Given the description of an element on the screen output the (x, y) to click on. 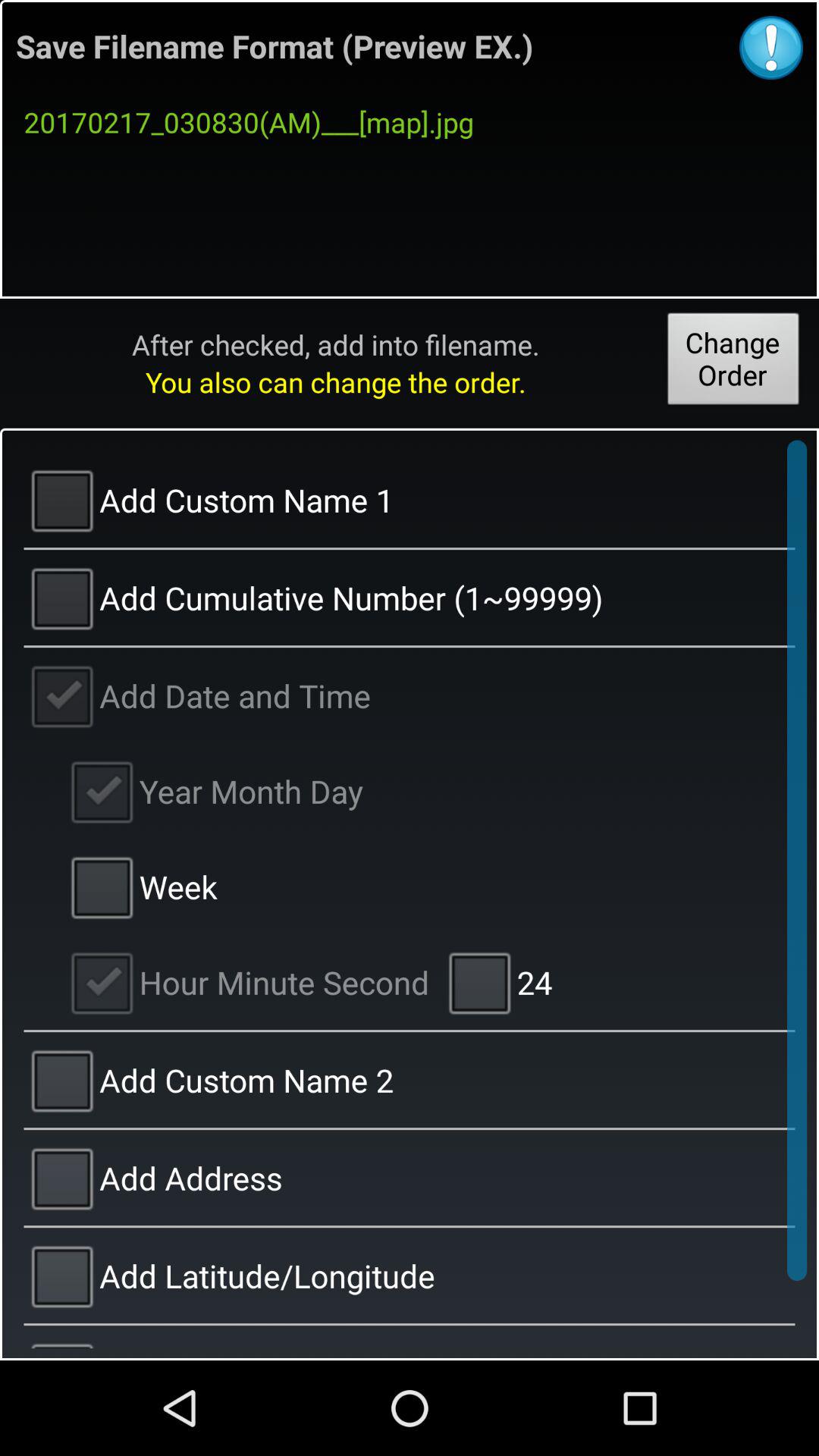
select add custom name 1 (409, 499)
select the button which is below year month day (140, 886)
select the text below add custom name 1 (409, 597)
select add latitudelongitude at the bottom of the page (409, 1275)
select the category which is immediately above year month day (409, 694)
go to add custom name 2 (409, 1079)
click on the  image option to the right of the text save filename formatpreview ex (771, 48)
